Given the description of an element on the screen output the (x, y) to click on. 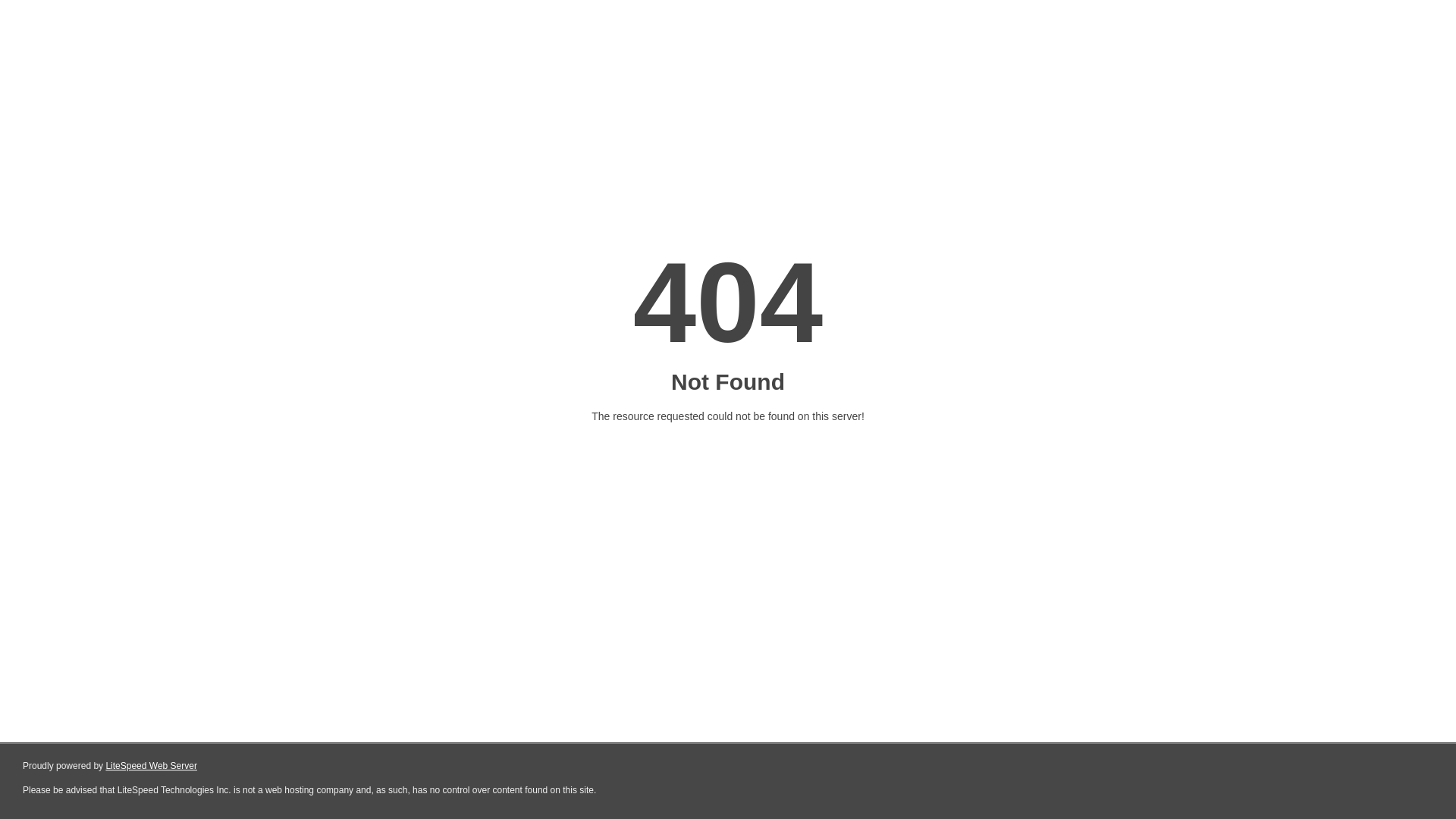
LiteSpeed Web Server Element type: text (151, 765)
